Given the description of an element on the screen output the (x, y) to click on. 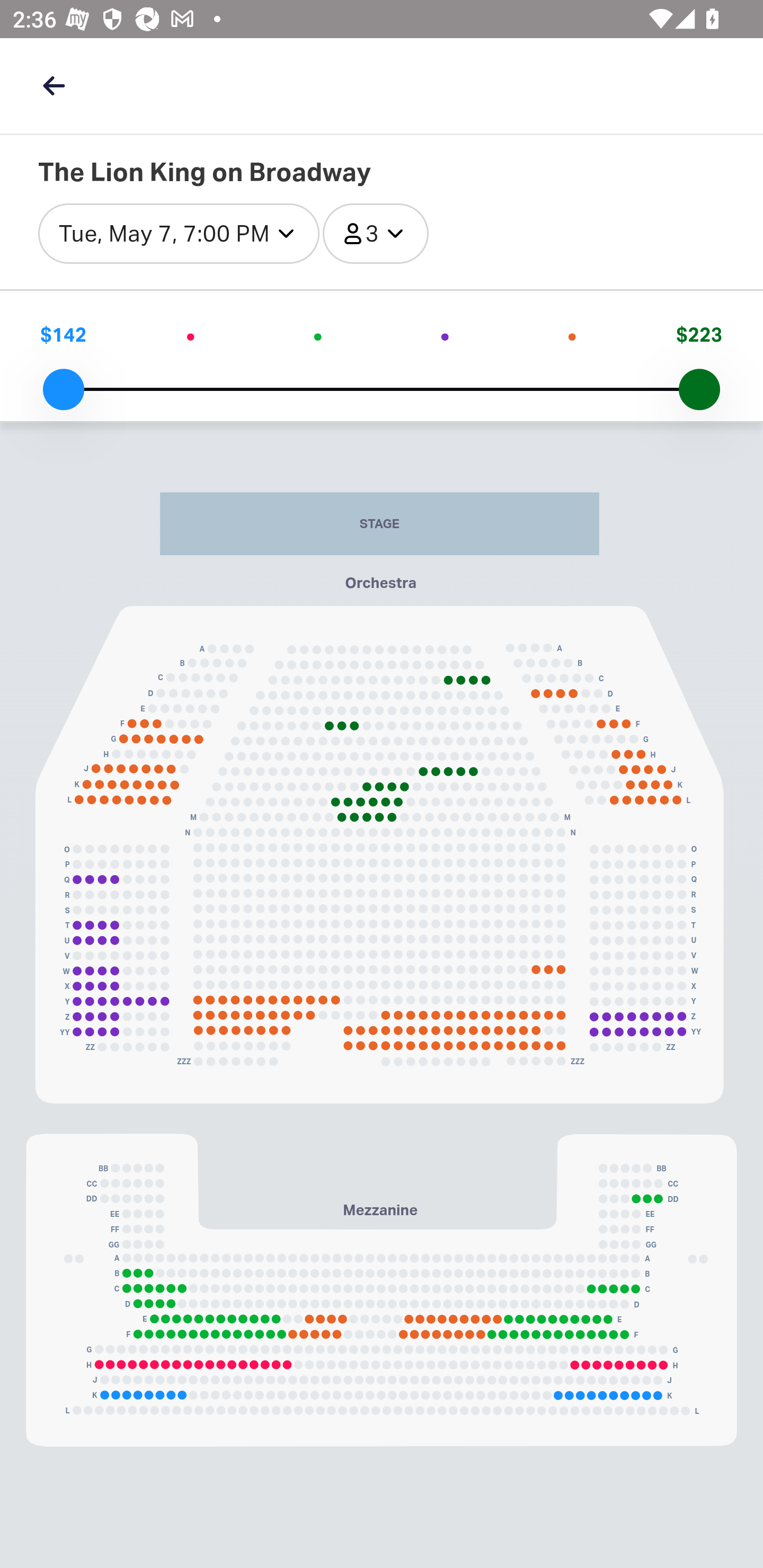
back button (53, 85)
